Given the description of an element on the screen output the (x, y) to click on. 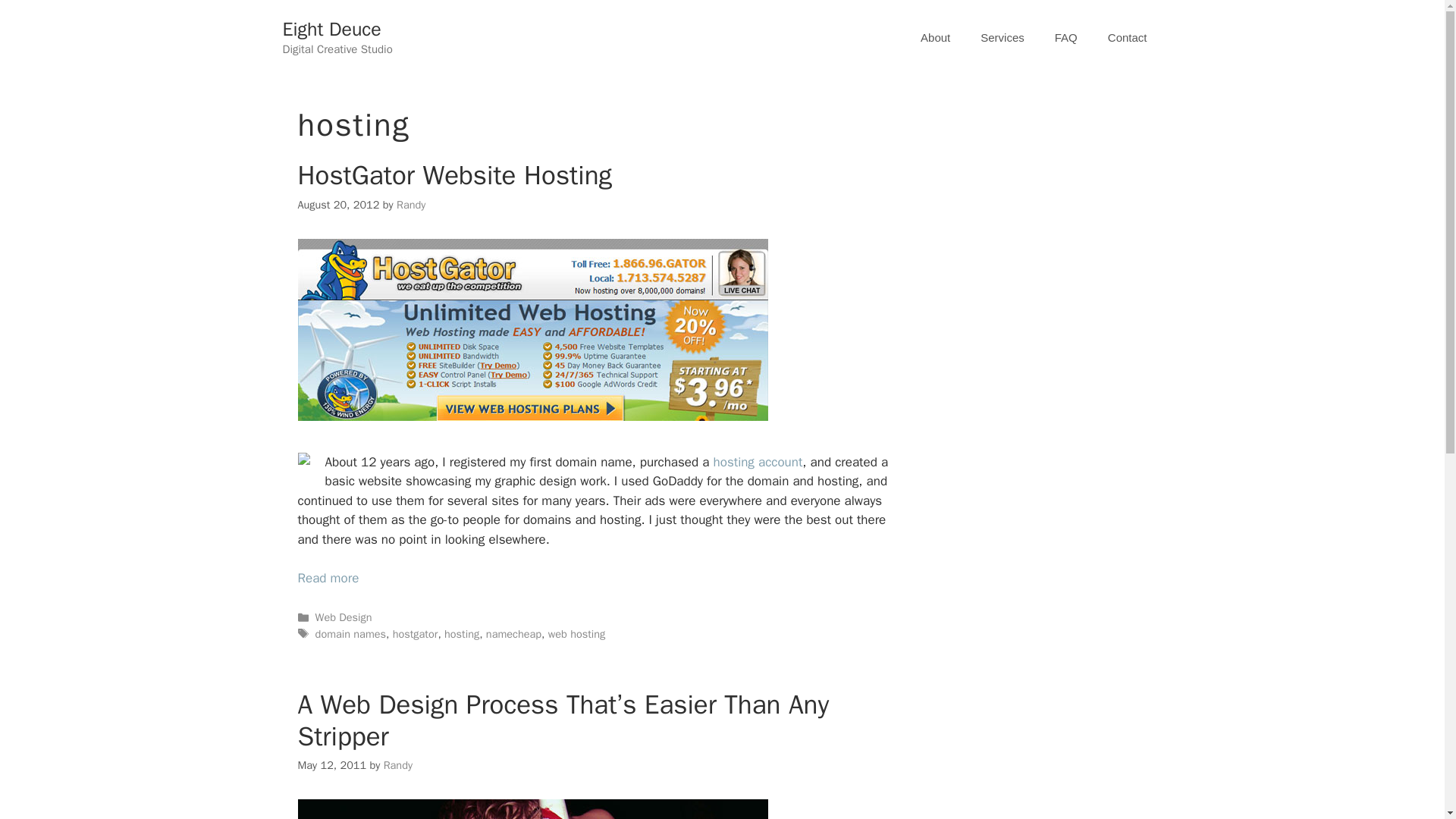
Read more (327, 578)
HostGator Website Hosting (327, 578)
Contact (1127, 37)
hostgator (415, 633)
About (935, 37)
Services (1002, 37)
domain names (350, 633)
Web Design (343, 617)
View all posts by Randy (398, 765)
View all posts by Randy (410, 204)
